Given the description of an element on the screen output the (x, y) to click on. 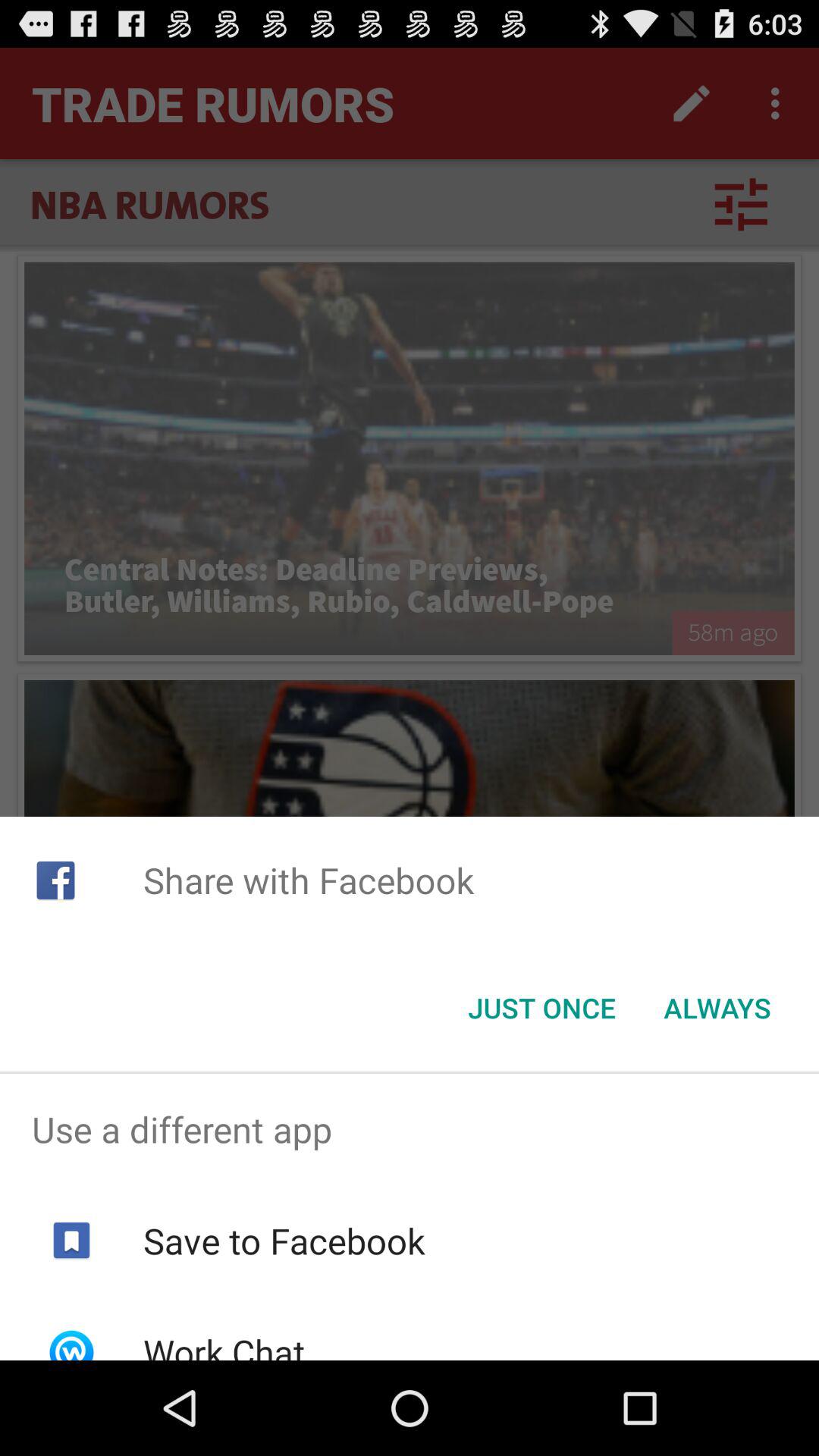
choose always (717, 1007)
